Given the description of an element on the screen output the (x, y) to click on. 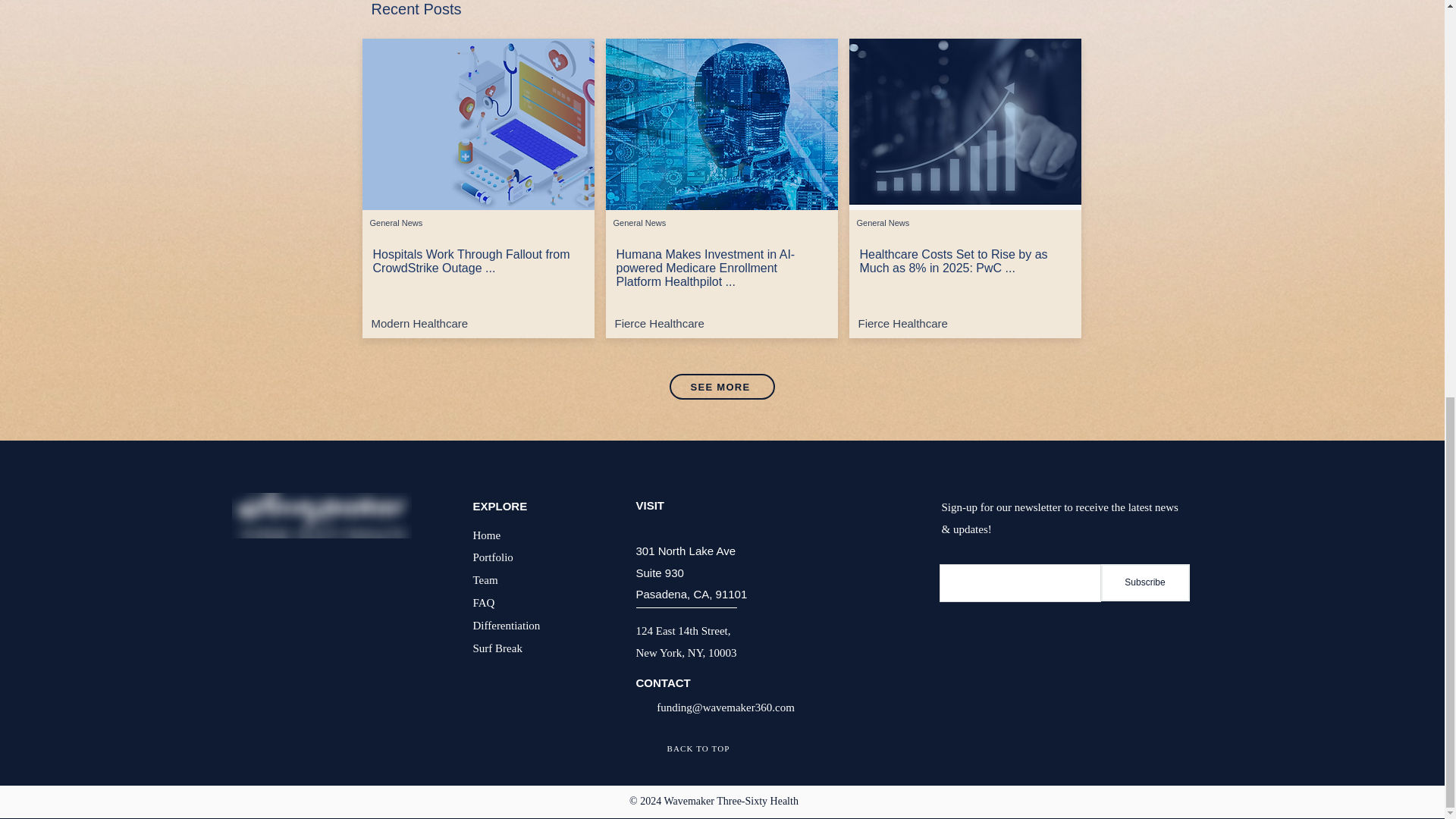
Surf Break (497, 647)
Team (485, 579)
Subscribe (1144, 582)
FAQ (484, 602)
HC IT SB.png (478, 123)
Differentiation (506, 625)
Portfolio (493, 556)
SEE MORE (721, 386)
HC AI SB.png (721, 123)
124 East 14th Street, (682, 630)
31.png (964, 123)
Home (486, 534)
BACK TO TOP (697, 747)
Sign-up for our newsletter to  (1008, 506)
